Given the description of an element on the screen output the (x, y) to click on. 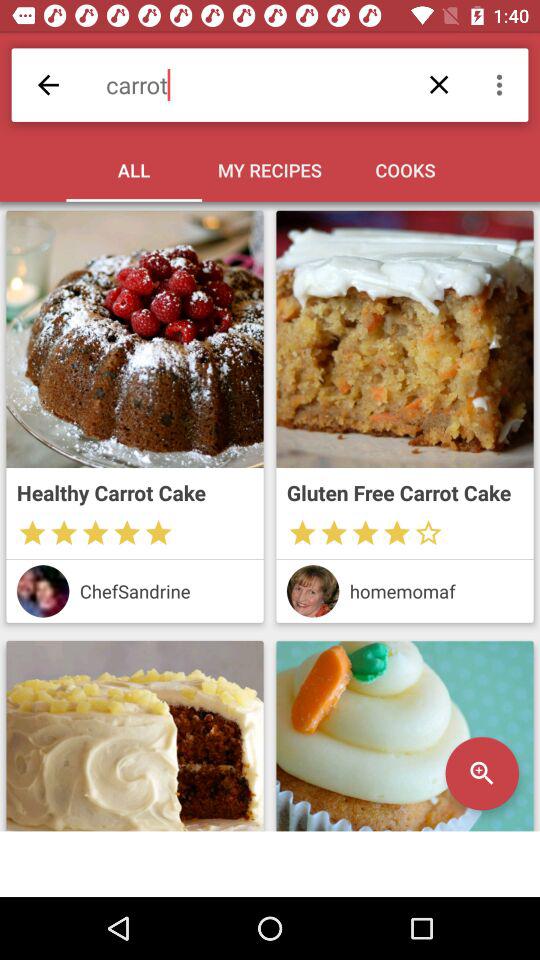
back (48, 84)
